Given the description of an element on the screen output the (x, y) to click on. 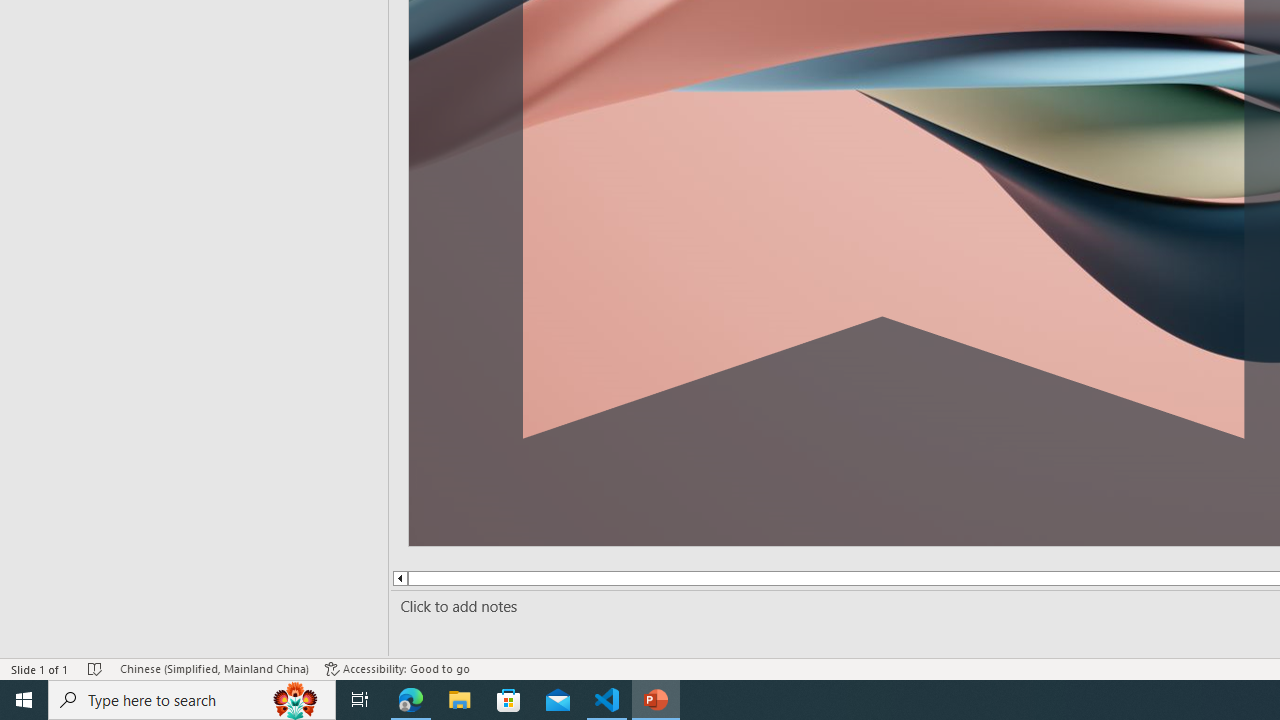
Accessibility Checker Accessibility: Good to go (397, 668)
